Given the description of an element on the screen output the (x, y) to click on. 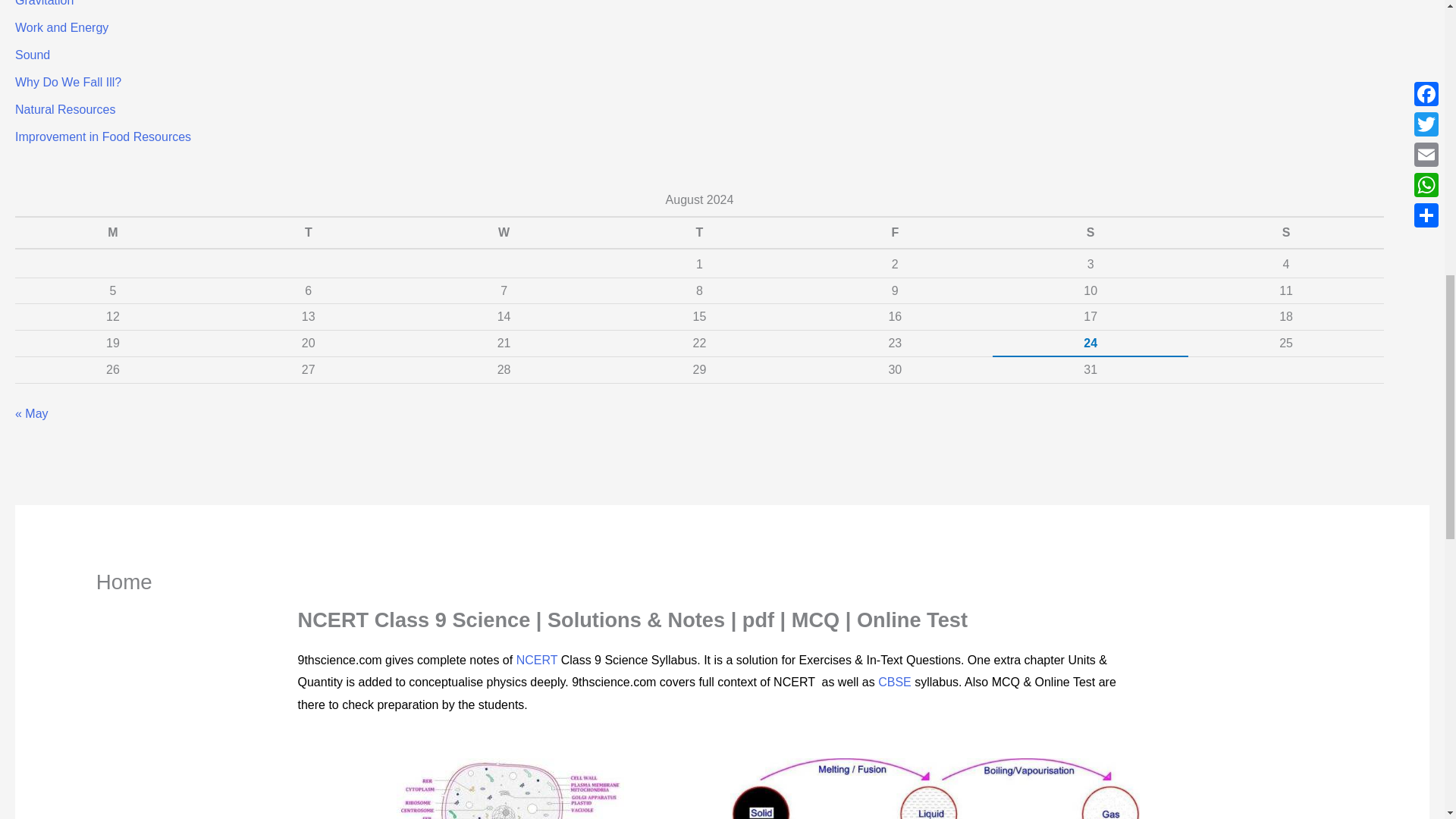
Friday (894, 232)
Sound (31, 54)
Tuesday (308, 232)
Saturday (1090, 232)
Sunday (1286, 232)
Monday (112, 232)
Work and Energy (60, 27)
Wednesday (504, 232)
Gravitation (44, 3)
Thursday (699, 232)
